Given the description of an element on the screen output the (x, y) to click on. 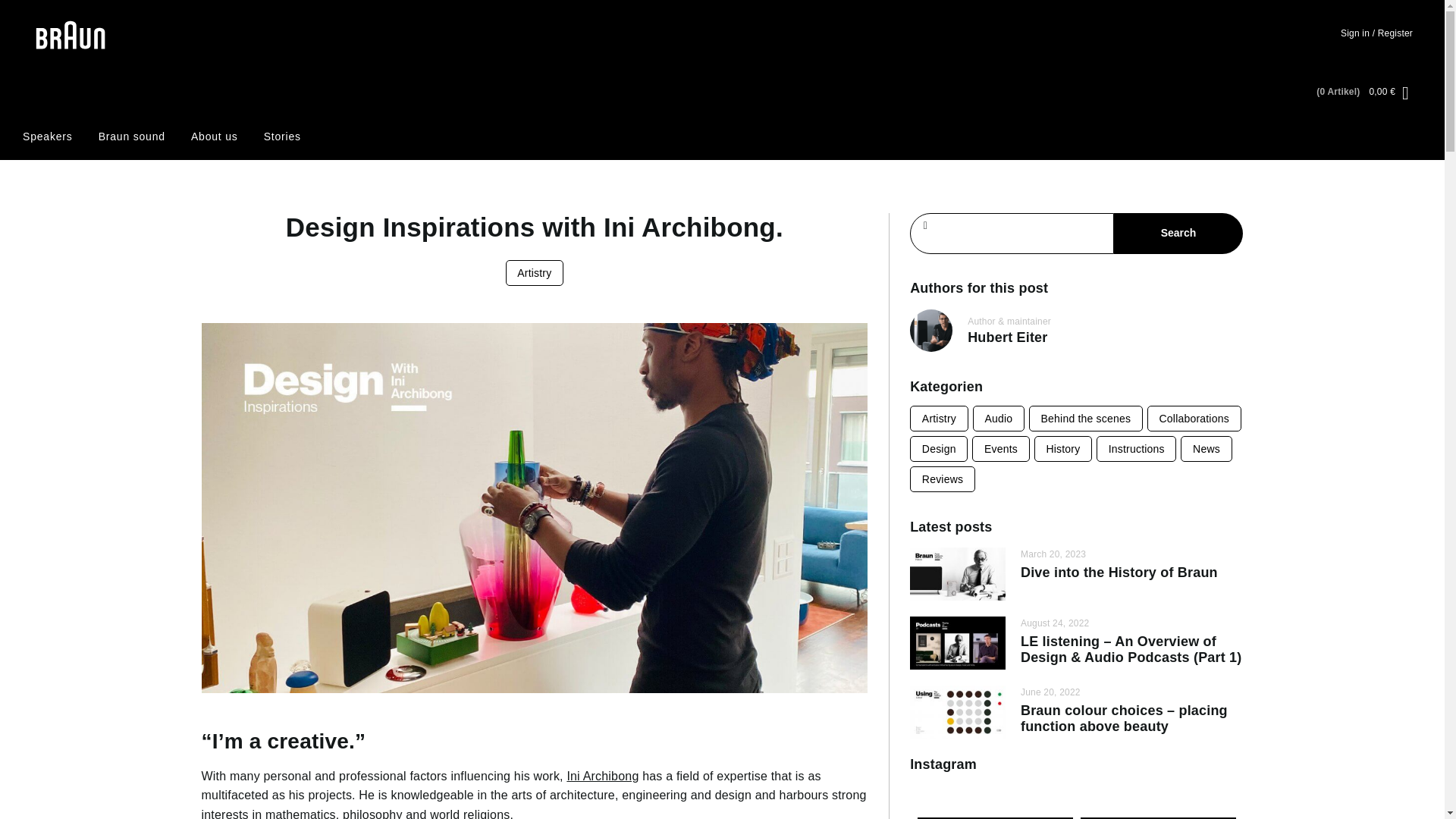
Braun sound (131, 135)
Artistry (939, 418)
Ini Archibong (602, 775)
Search (1178, 232)
Speakers (47, 135)
About us (213, 135)
Braun sound (131, 135)
About us (213, 135)
Stories (282, 135)
Speakers (47, 135)
